Given the description of an element on the screen output the (x, y) to click on. 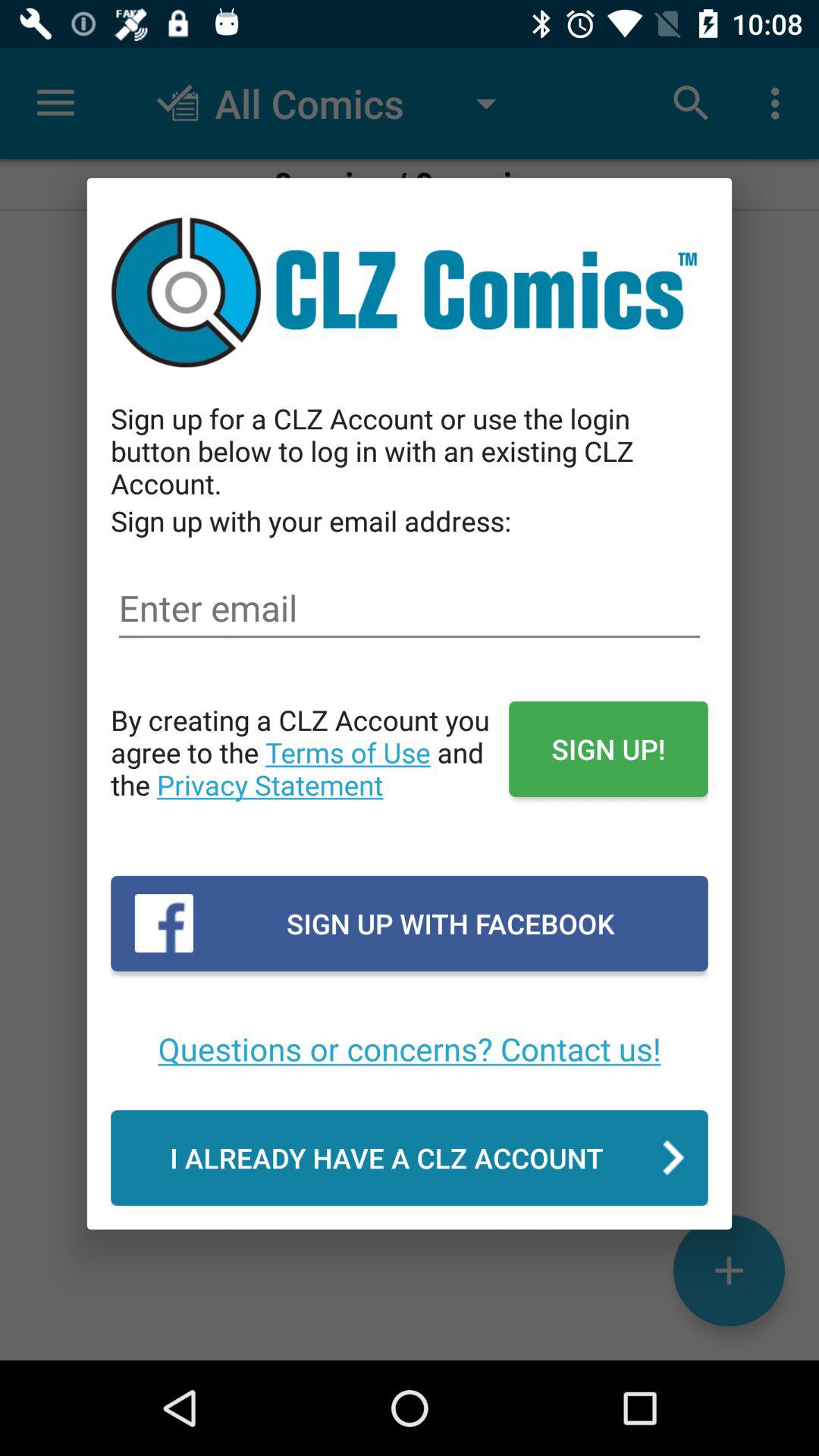
press the i already have icon (409, 1157)
